Given the description of an element on the screen output the (x, y) to click on. 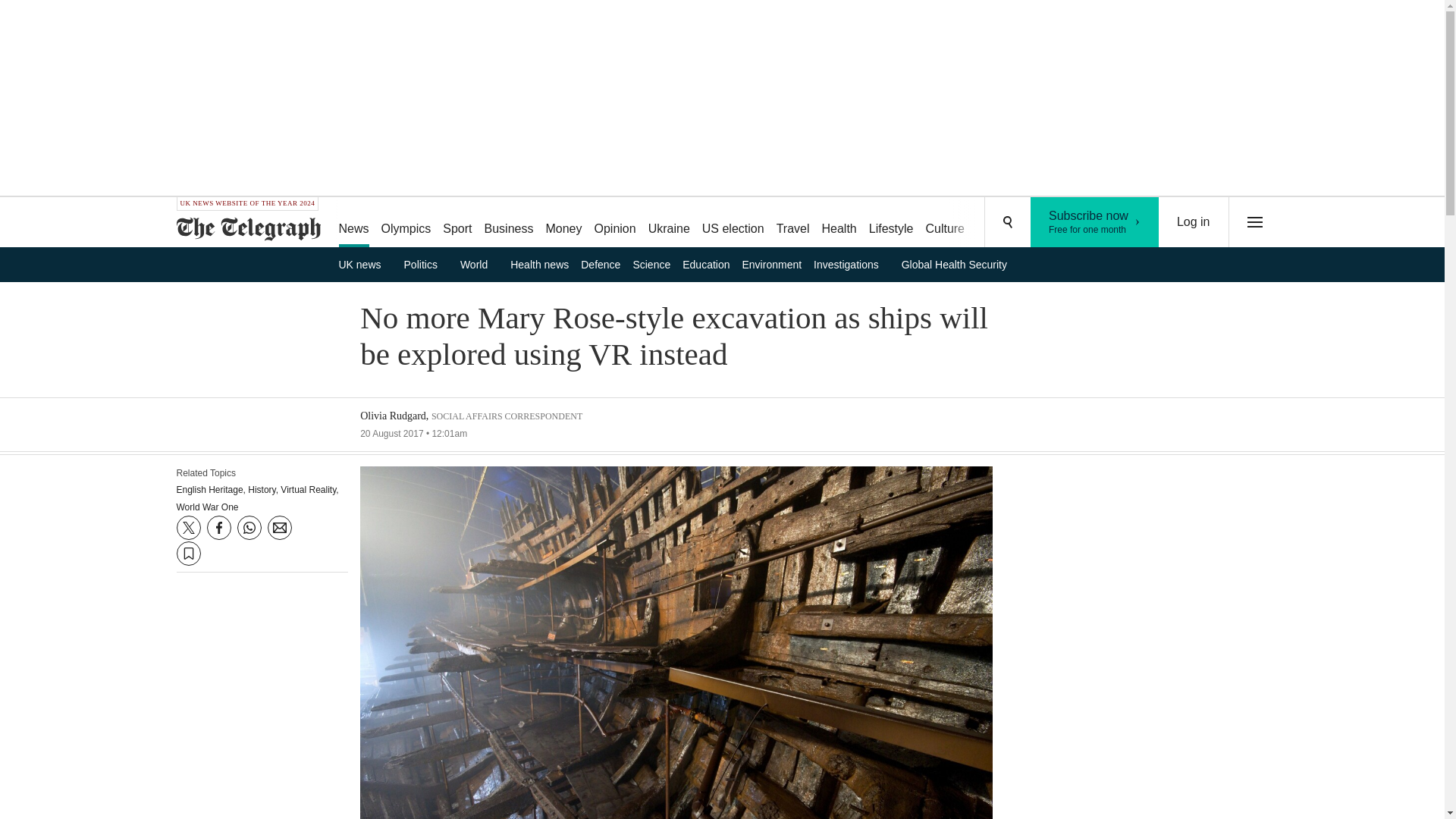
Business (509, 223)
UK news (1094, 222)
Lifestyle (364, 264)
Culture (891, 223)
Olympics (944, 223)
Ukraine (406, 223)
Puzzles (668, 223)
Health (998, 223)
Travel (838, 223)
US election (792, 223)
Politics (732, 223)
Podcasts (425, 264)
Log in (1056, 223)
Money (1193, 222)
